Given the description of an element on the screen output the (x, y) to click on. 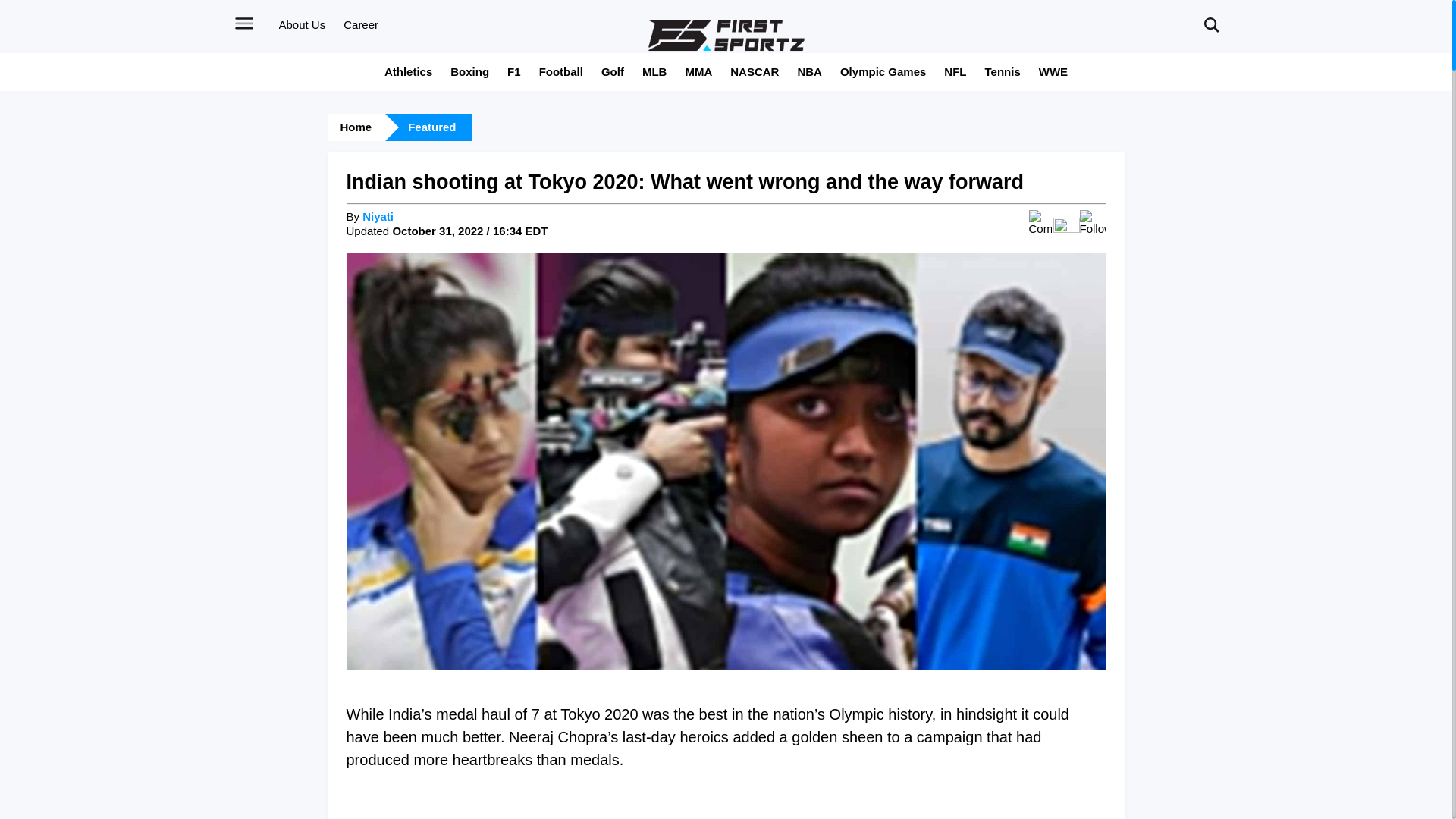
WWE (1053, 71)
Career (360, 24)
MMA (697, 71)
F1 (513, 71)
Football (560, 71)
NFL (954, 71)
FirstSportz (726, 35)
NBA (809, 71)
Boxing (469, 71)
Olympic Games (883, 71)
About Us (302, 24)
Tennis (1002, 71)
NASCAR (754, 71)
MLB (654, 71)
Athletics (408, 71)
